Given the description of an element on the screen output the (x, y) to click on. 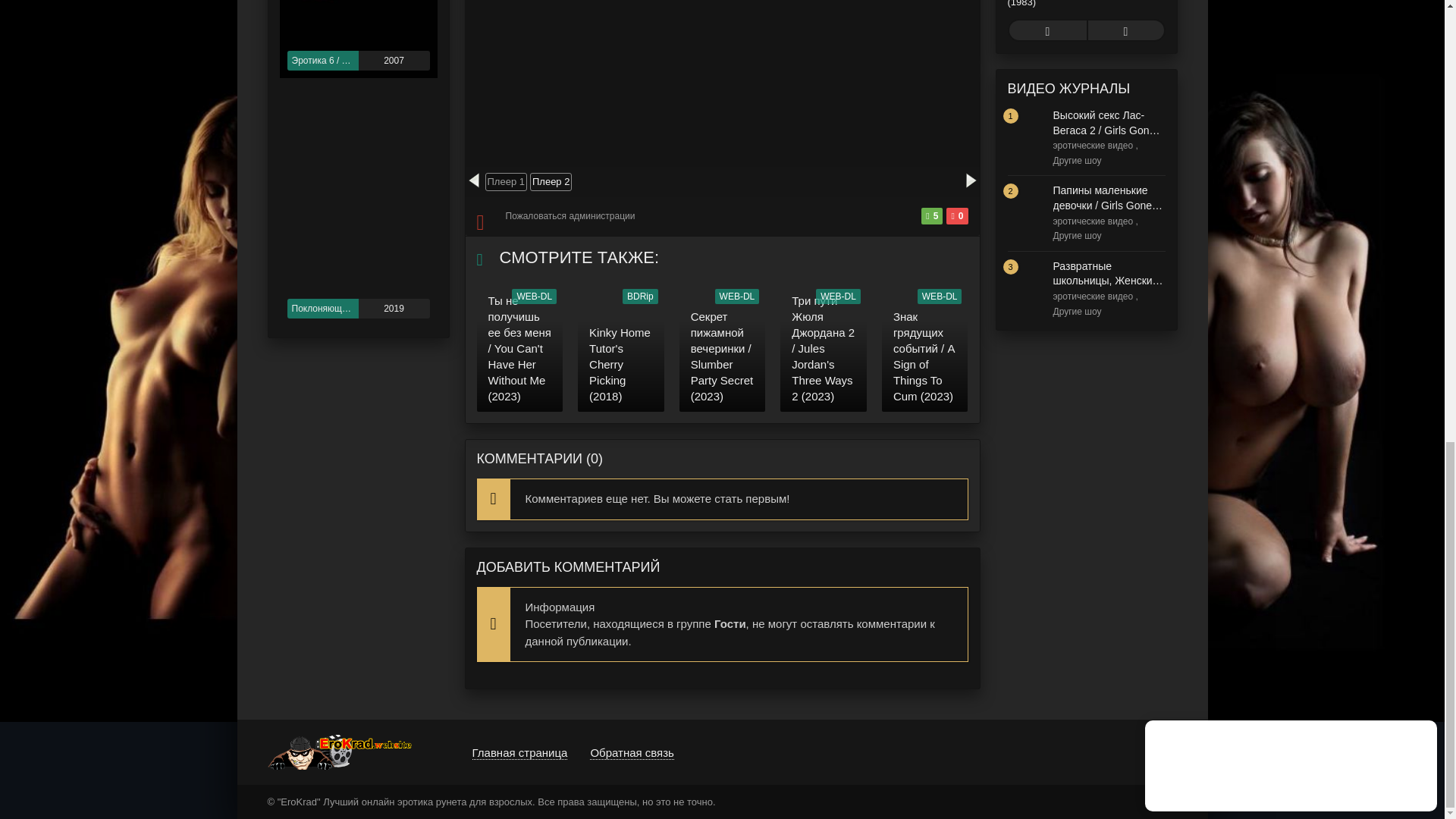
LiveInternet (1165, 750)
